Given the description of an element on the screen output the (x, y) to click on. 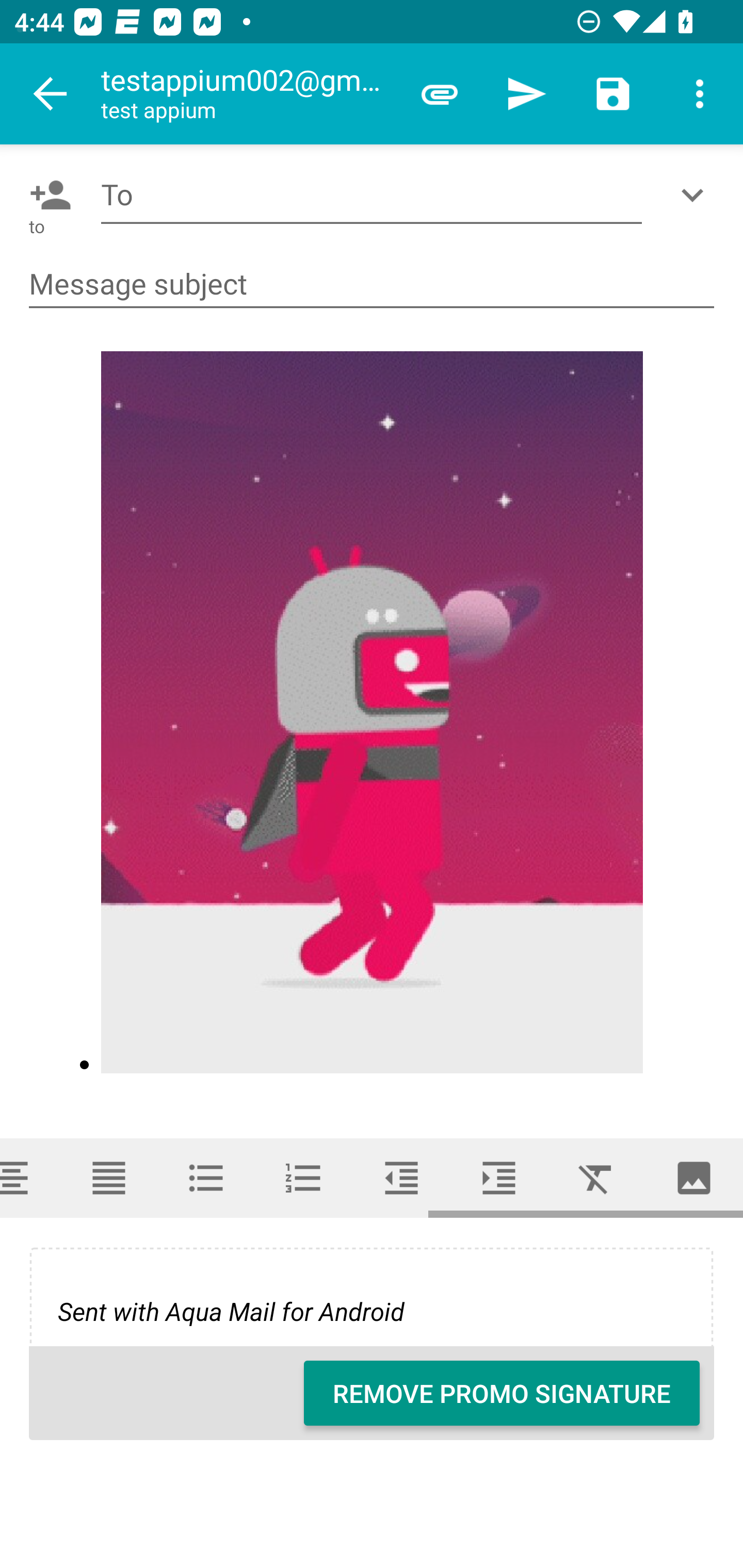
Navigate up (50, 93)
testappium002@gmail.com test appium (248, 93)
Attach (439, 93)
Send (525, 93)
Save (612, 93)
More options (699, 93)
Pick contact: To (46, 195)
Show/Add CC/BCC (696, 195)
To (371, 195)
Message subject (371, 284)
• 
 (372, 716)
Align center (30, 1178)
Full justify (108, 1178)
List (bulleted) (206, 1178)
List (numbered) (303, 1178)
Decrease indent (401, 1178)
Increase indent (499, 1178)
Clear format (596, 1178)
Insert image (694, 1178)
REMOVE PROMO SIGNATURE (501, 1393)
